Given the description of an element on the screen output the (x, y) to click on. 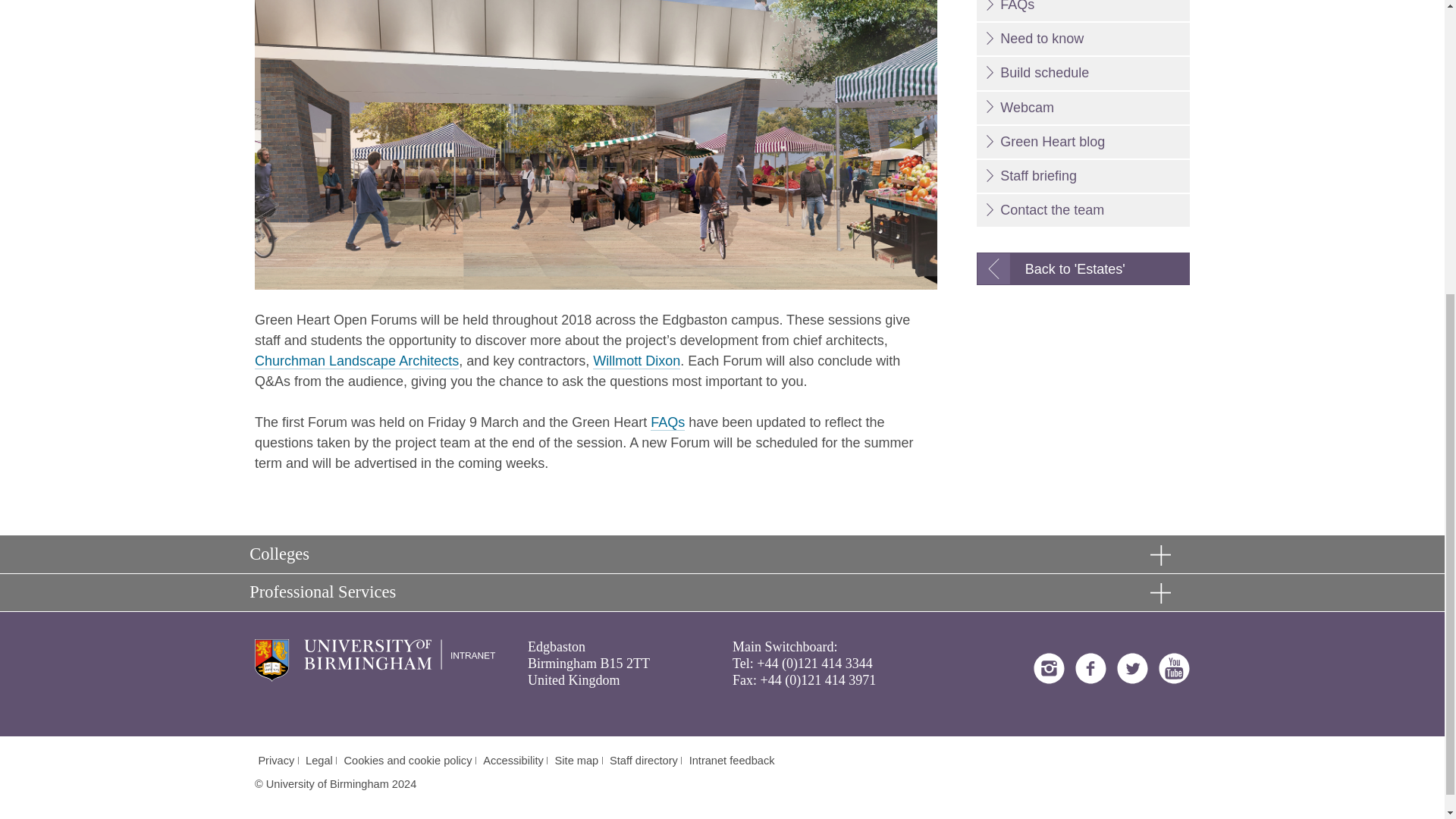
Staff briefing (1082, 175)
FAQs (1082, 10)
Green Heart blog (1082, 142)
Build schedule (1082, 72)
Need to know (1082, 38)
Green Heart FAQs (667, 422)
Webcam (1082, 107)
Contact the team (1082, 210)
